Given the description of an element on the screen output the (x, y) to click on. 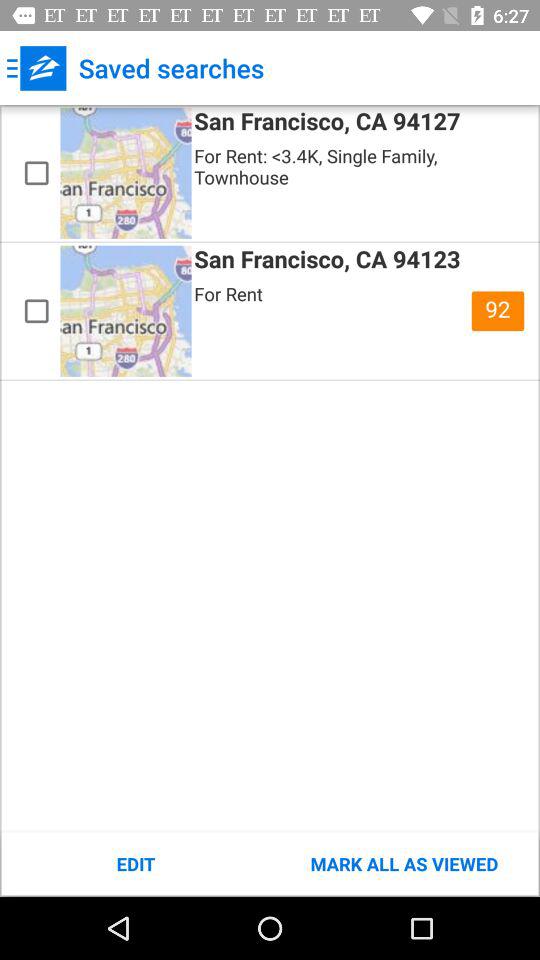
click the item next to the mark all as icon (135, 863)
